Given the description of an element on the screen output the (x, y) to click on. 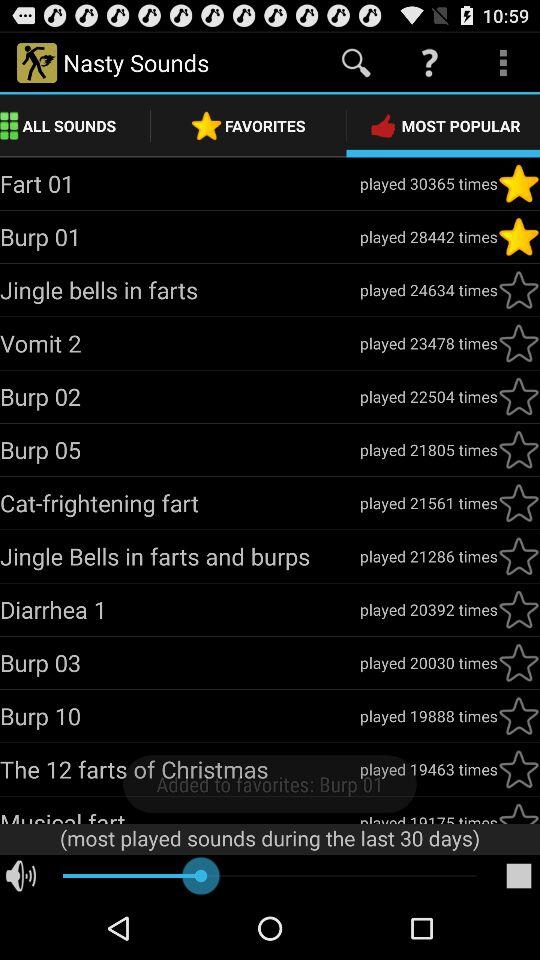
tap app above the 12 farts app (180, 715)
